Given the description of an element on the screen output the (x, y) to click on. 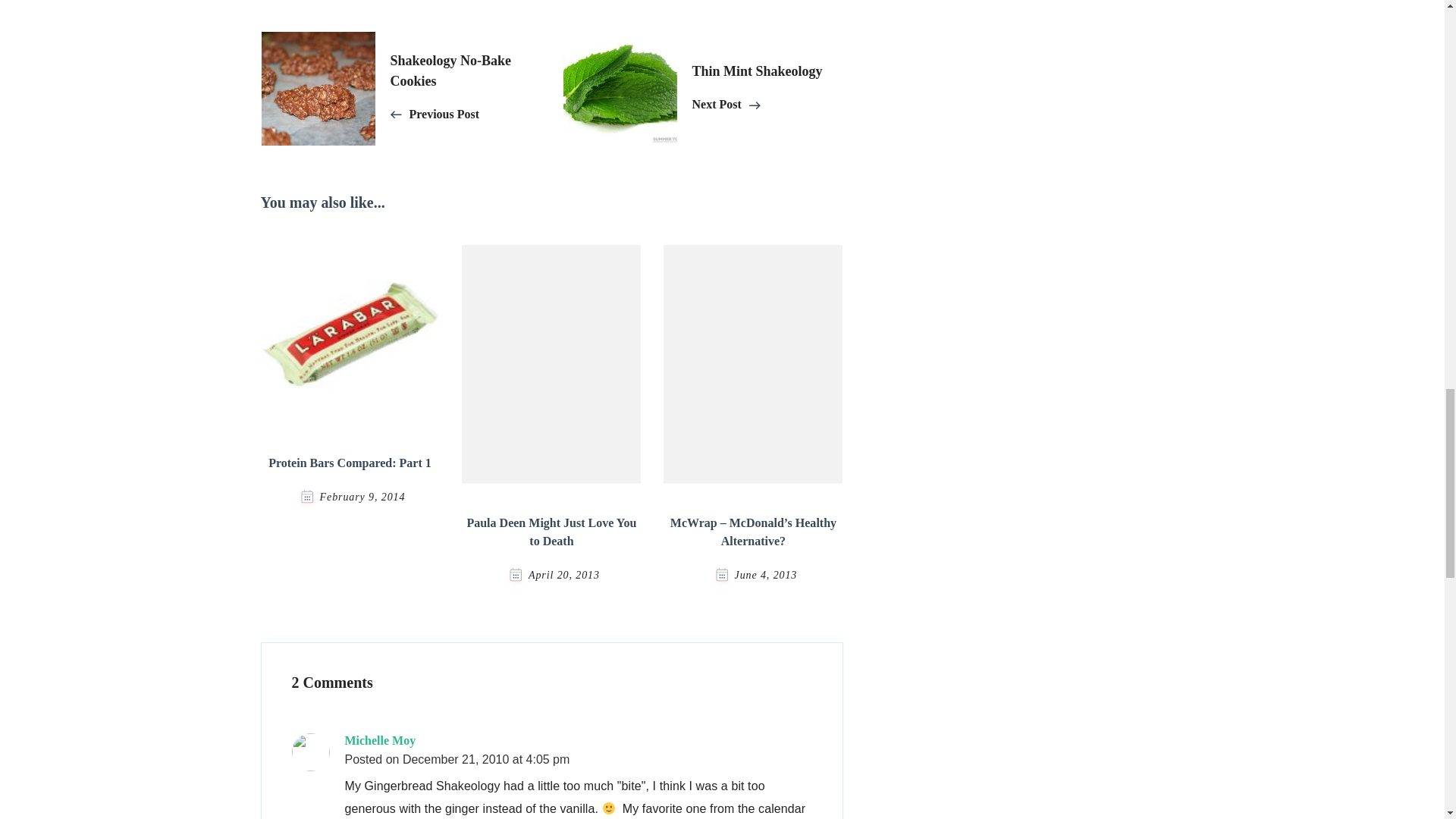
February 9, 2014 (363, 496)
April 20, 2013 (563, 575)
Protein Bars Compared: Part 1 (348, 462)
Paula Deen Might Just Love You to Death (465, 88)
